Given the description of an element on the screen output the (x, y) to click on. 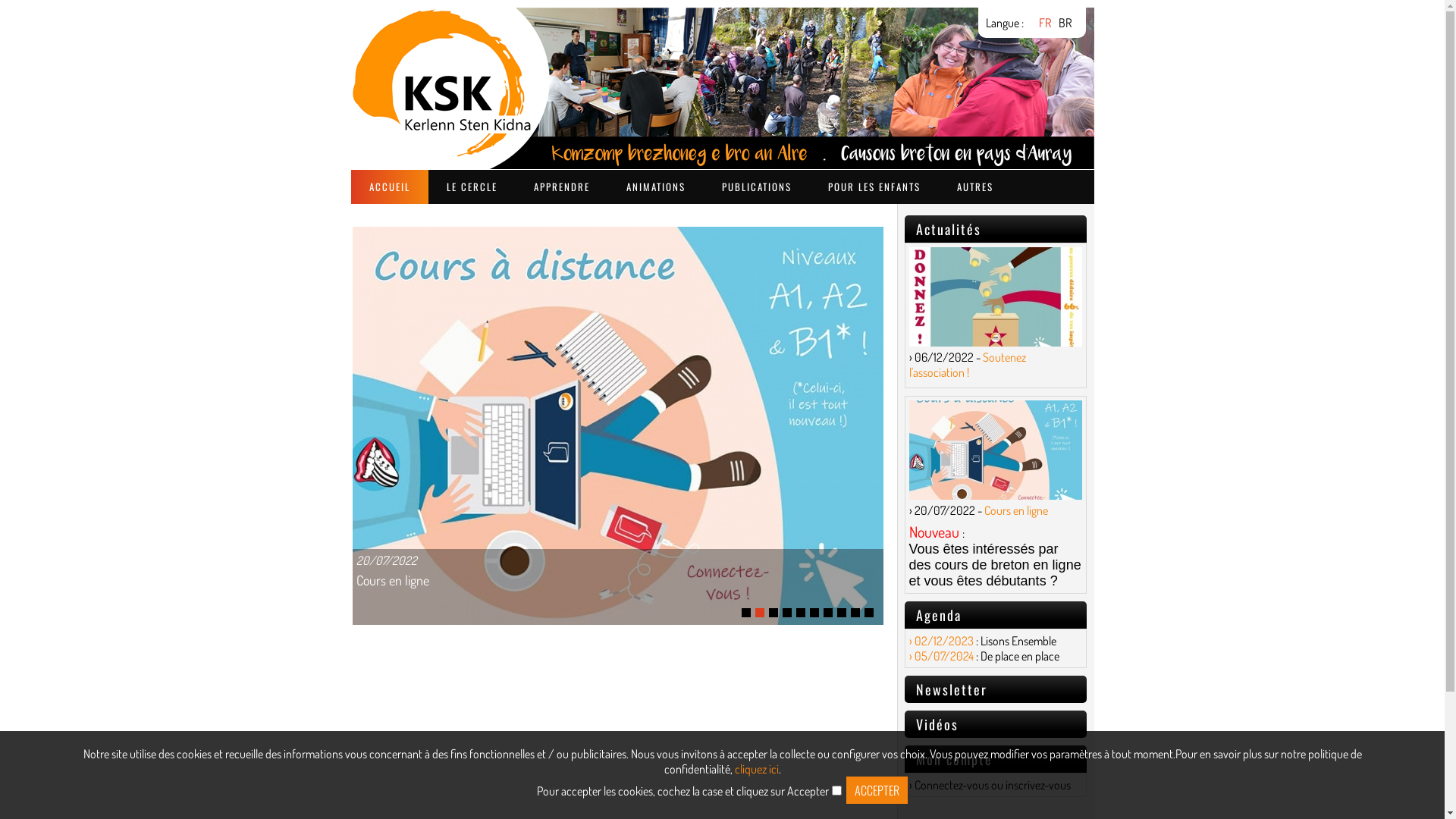
BR Element type: text (1064, 22)
ANIMATIONS Element type: text (655, 186)
  Element type: text (446, 103)
Cours en ligne Element type: hover (617, 387)
Agenda Element type: text (938, 614)
Accepter Element type: text (876, 789)
AUTRES Element type: text (974, 186)
  Element type: text (617, 387)
LE CERCLE Element type: text (470, 186)
cliquez ici Element type: text (756, 768)
Newsletter Element type: text (951, 689)
POUR LES ENFANTS Element type: text (873, 186)
PUBLICATIONS Element type: text (756, 186)
APPRENDRE Element type: text (561, 186)
Cours en ligne Element type: text (392, 579)
